Given the description of an element on the screen output the (x, y) to click on. 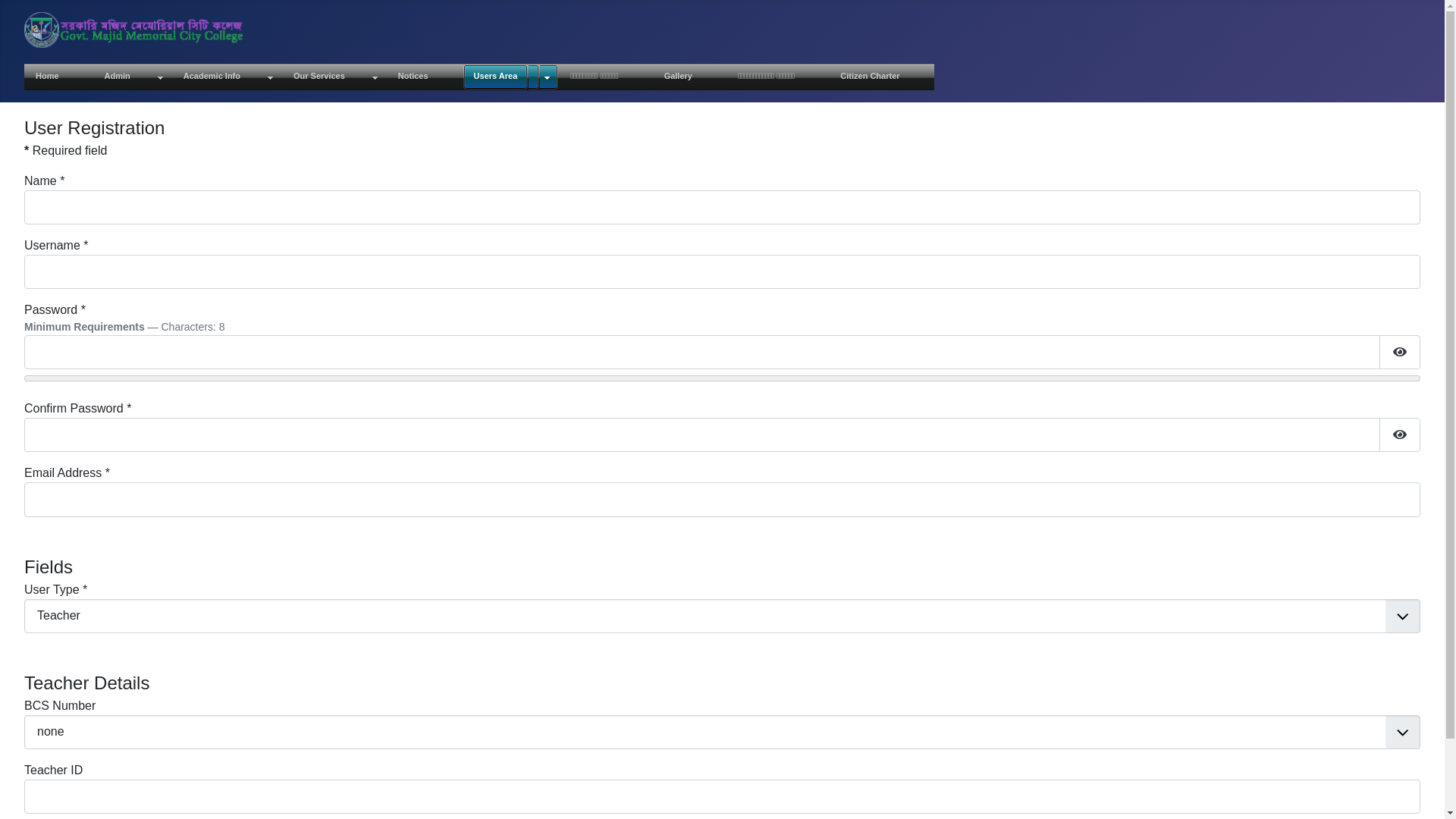
Home Element type: text (58, 76)
Our Services Element type: text (334, 76)
Users Area Element type: text (510, 76)
Citizen Charter Element type: text (880, 76)
Academic Info Element type: text (227, 76)
Notices Element type: text (424, 76)
Admin Element type: text (132, 76)
Show Password Element type: text (1399, 352)
Gallery Element type: text (689, 76)
Show Password Element type: text (1399, 434)
